Given the description of an element on the screen output the (x, y) to click on. 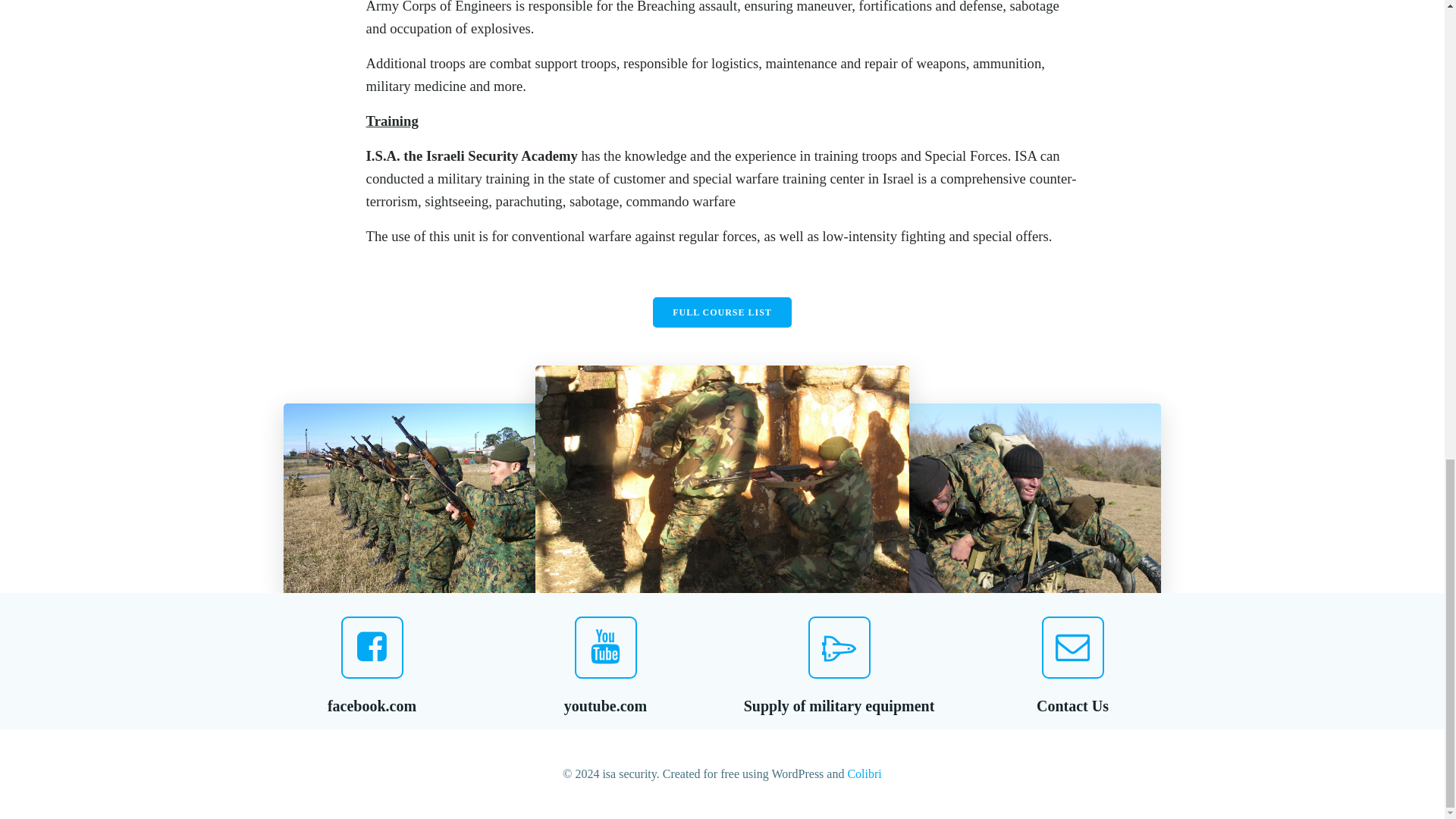
FULL COURSE LIST (722, 312)
Colibri (863, 773)
